Given the description of an element on the screen output the (x, y) to click on. 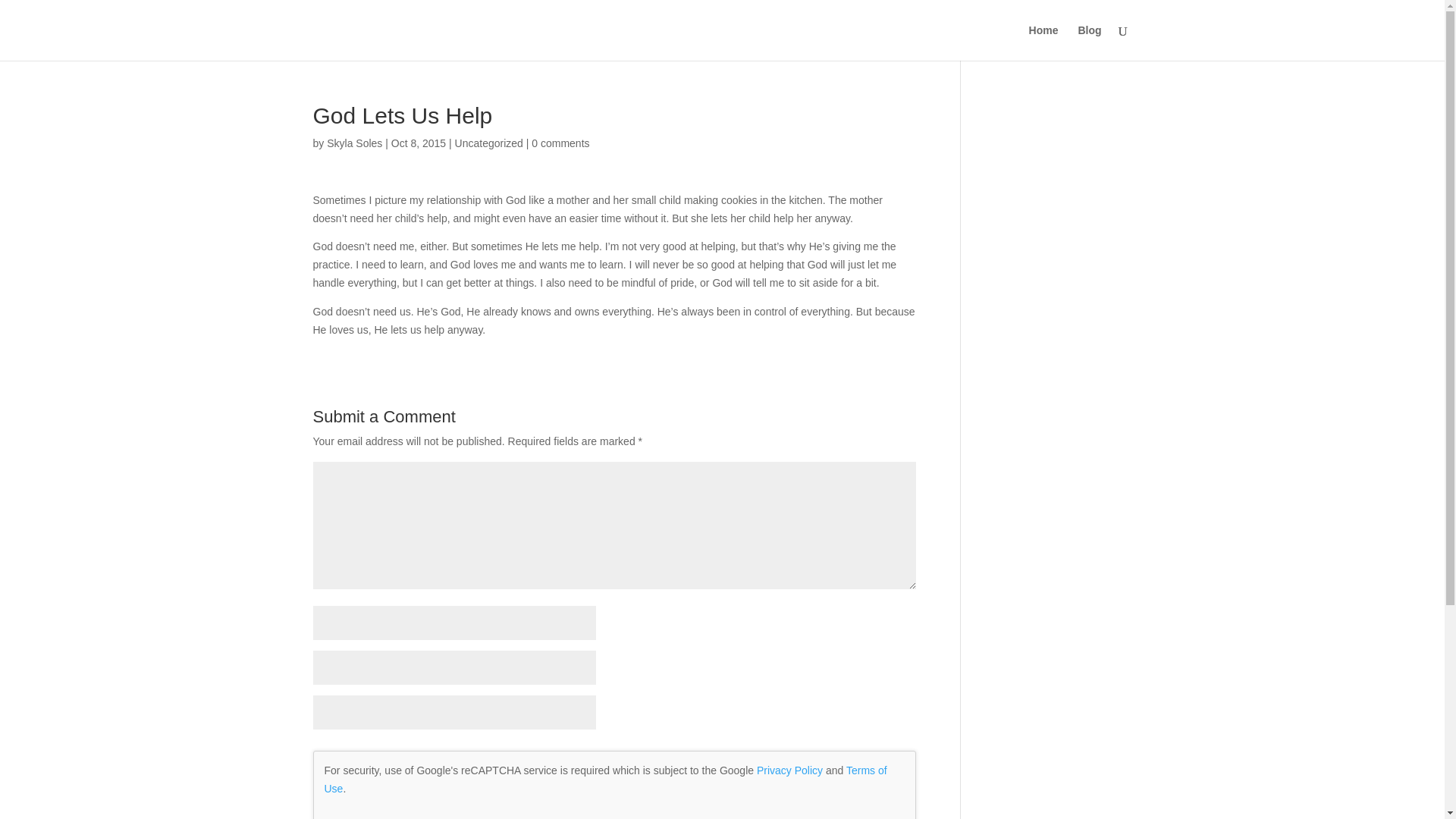
Uncategorized (488, 143)
0 comments (560, 143)
Skyla Soles (353, 143)
Privacy Policy (789, 770)
Terms of Use (605, 779)
Posts by Skyla Soles (353, 143)
